Given the description of an element on the screen output the (x, y) to click on. 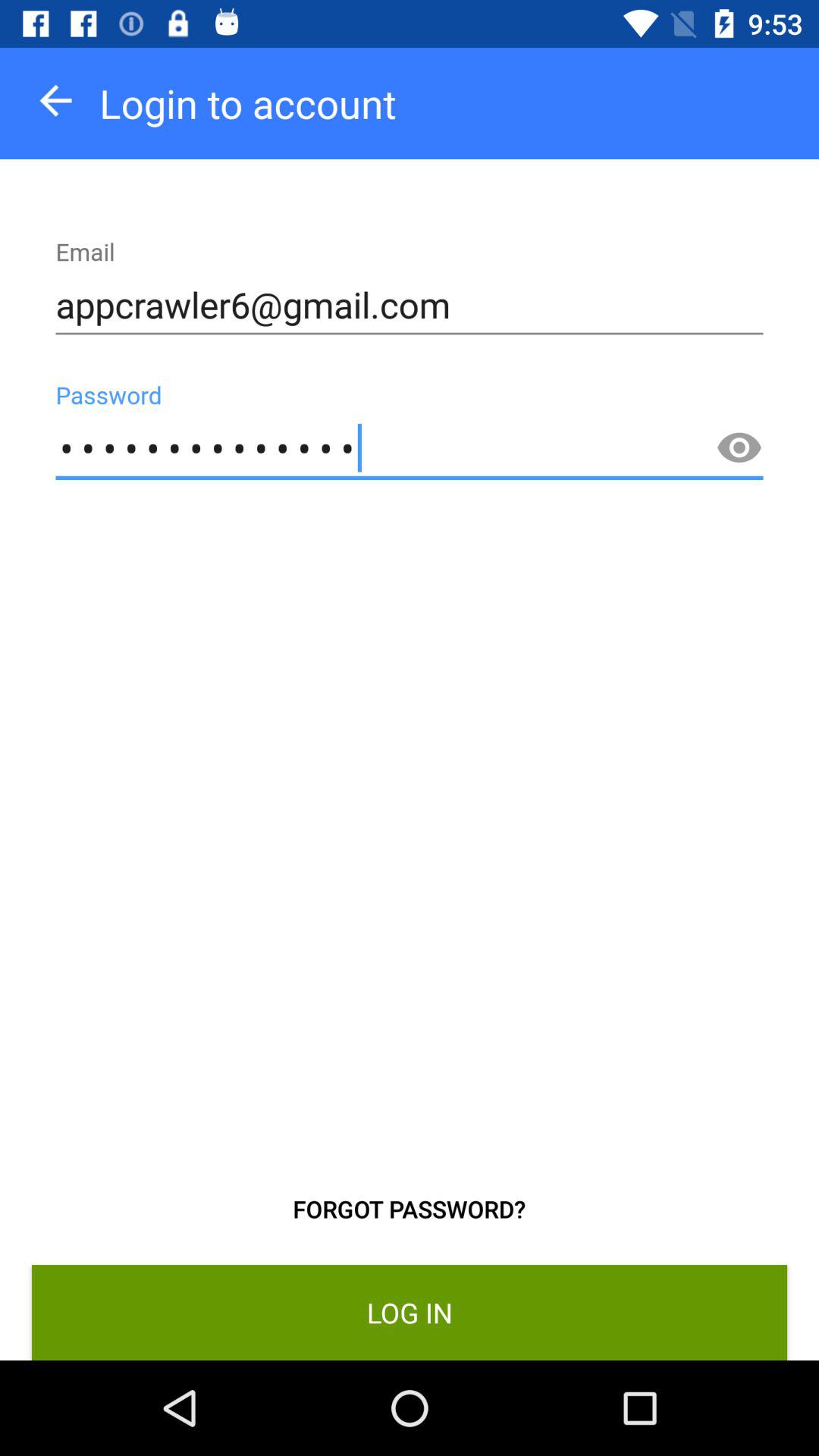
press the log in icon (409, 1312)
